Given the description of an element on the screen output the (x, y) to click on. 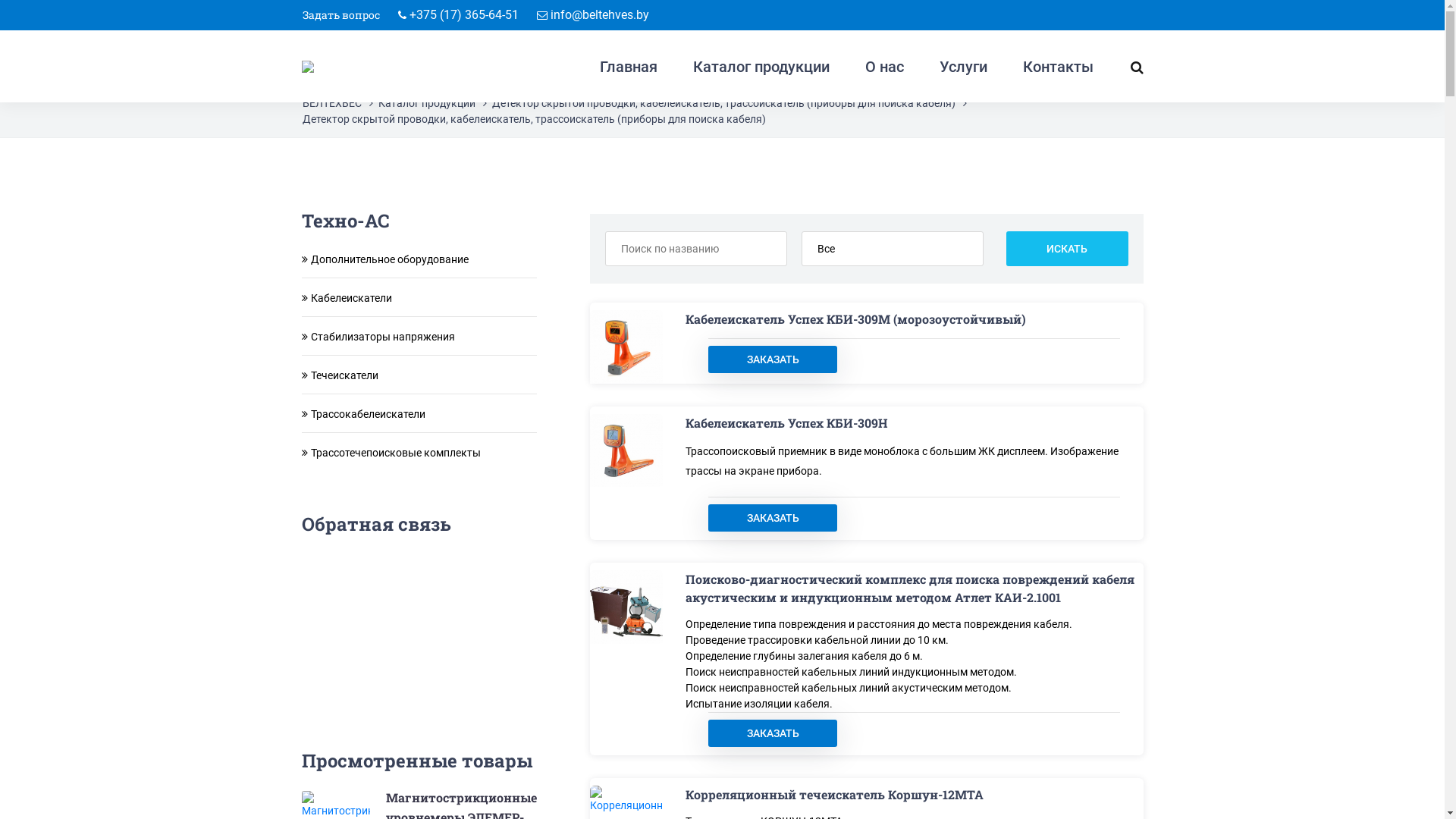
+375 (17) 365-64-51 Element type: text (463, 14)
info@beltehves.by Element type: text (599, 14)
